Given the description of an element on the screen output the (x, y) to click on. 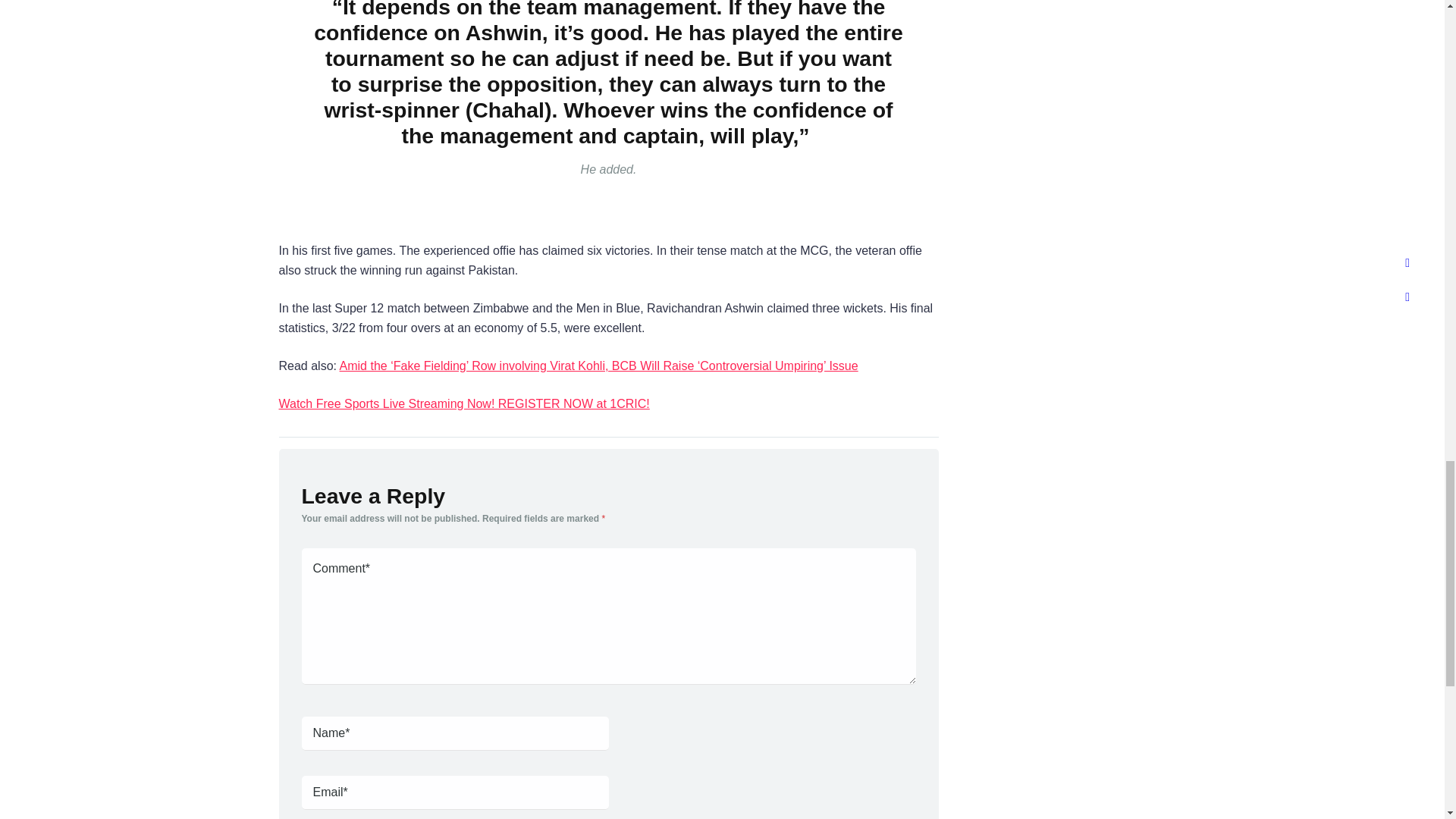
Watch Free Sports Live Streaming Now! REGISTER NOW at 1CRIC! (464, 403)
